Given the description of an element on the screen output the (x, y) to click on. 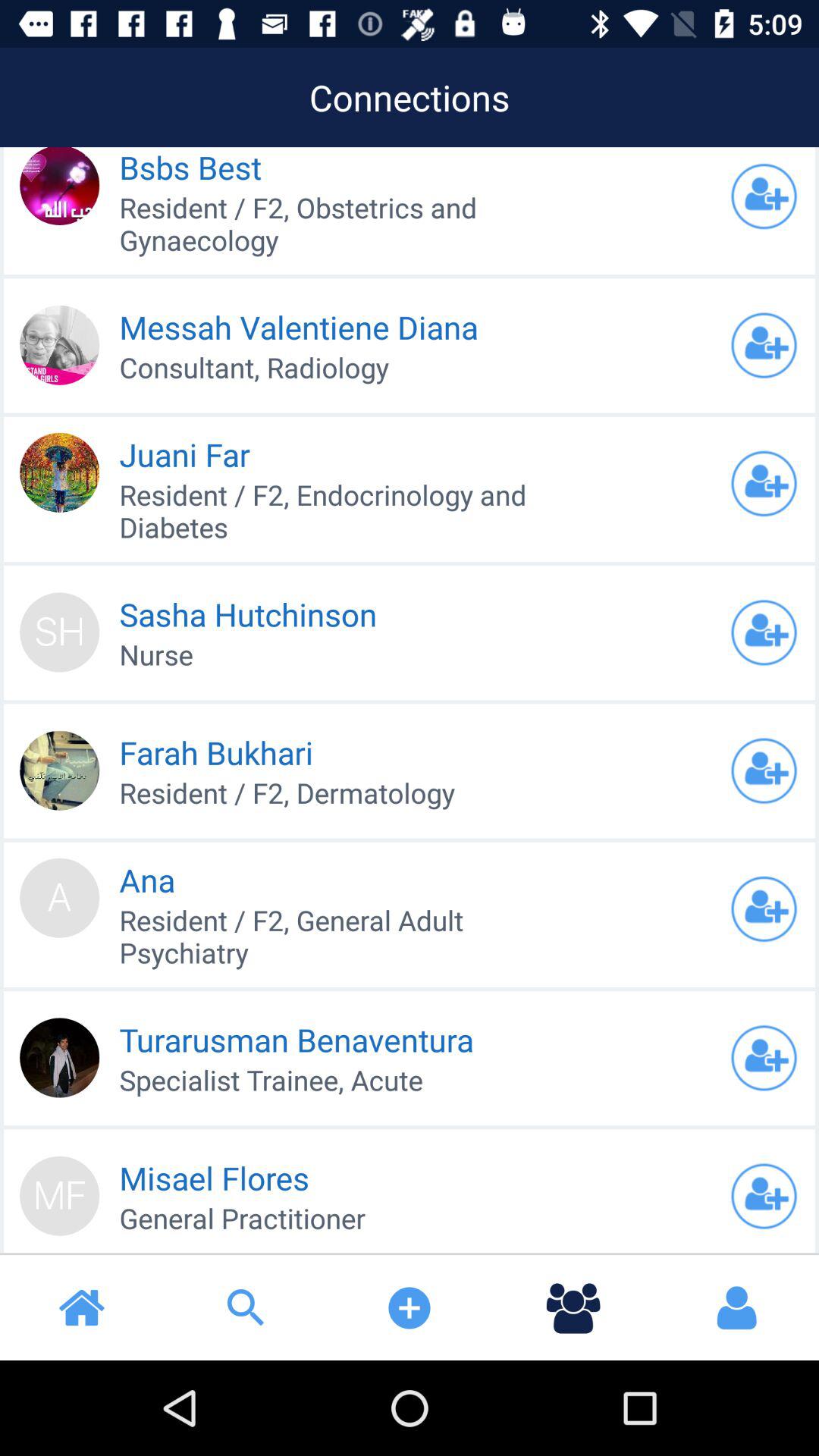
adds friend (764, 632)
